Given the description of an element on the screen output the (x, y) to click on. 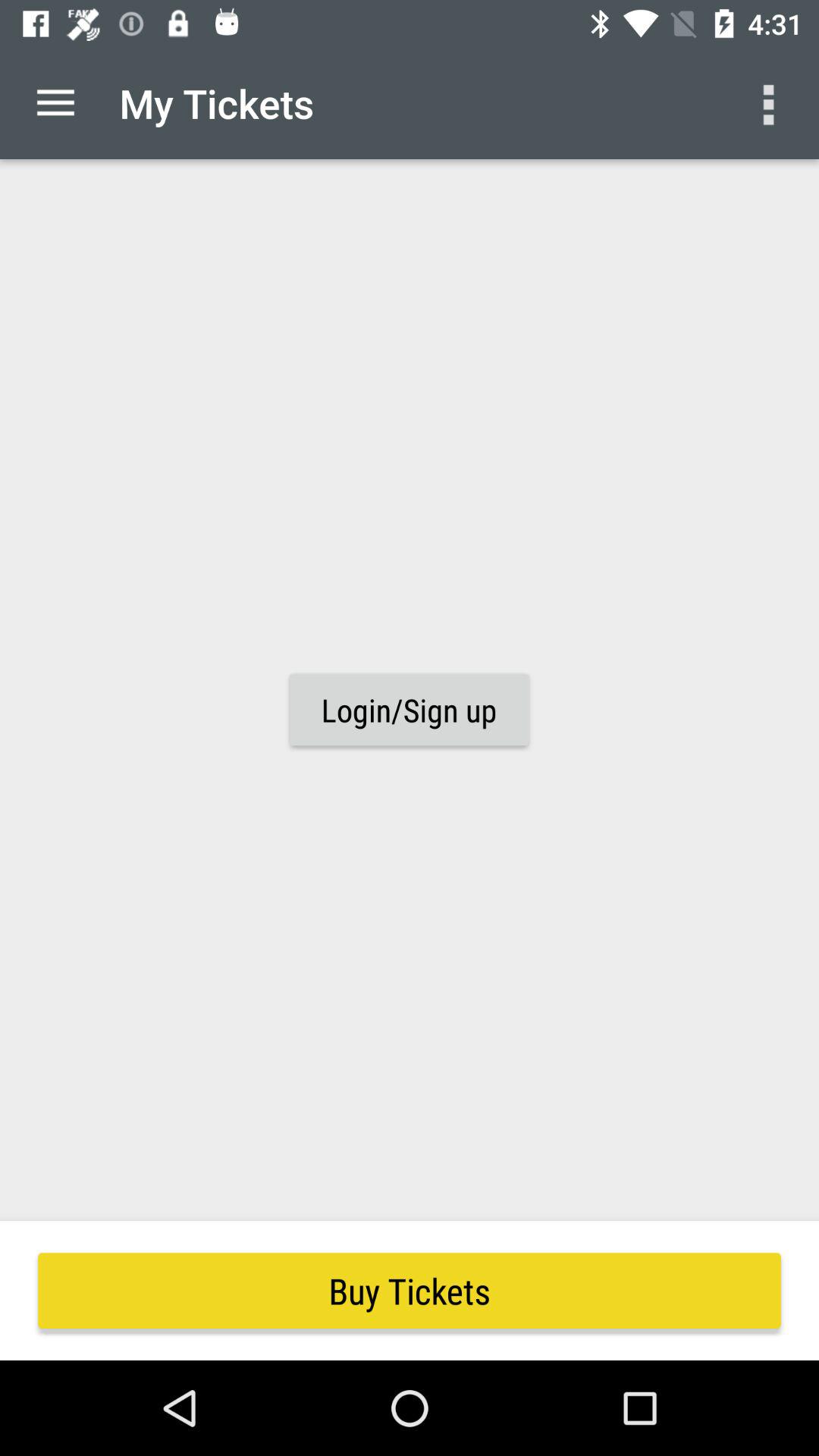
turn on the icon below login/sign up item (409, 1290)
